Given the description of an element on the screen output the (x, y) to click on. 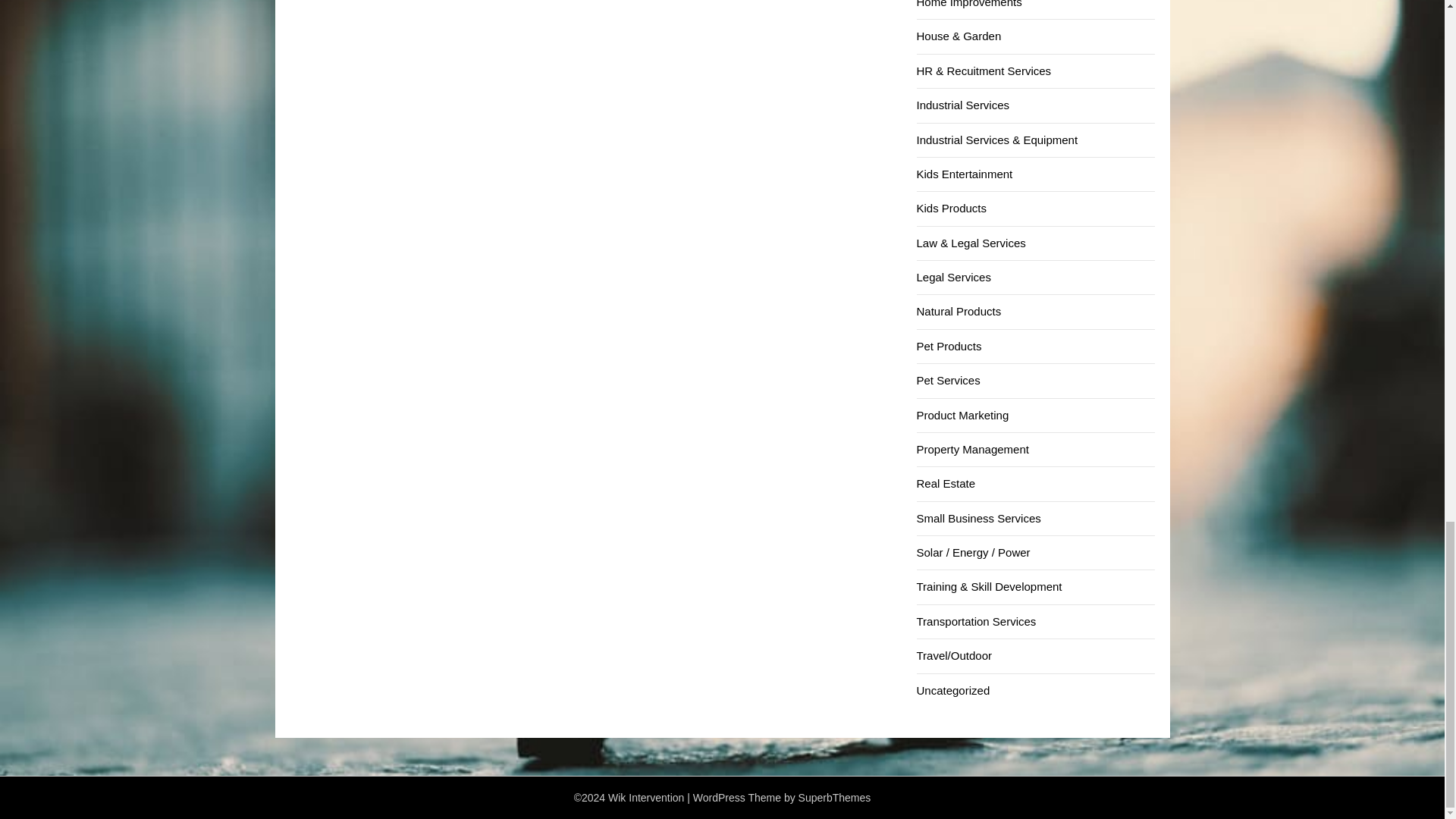
Legal Services (952, 277)
Kids Products (951, 207)
Home Improvements (968, 4)
Kids Entertainment (963, 173)
Industrial Services (962, 104)
